Given the description of an element on the screen output the (x, y) to click on. 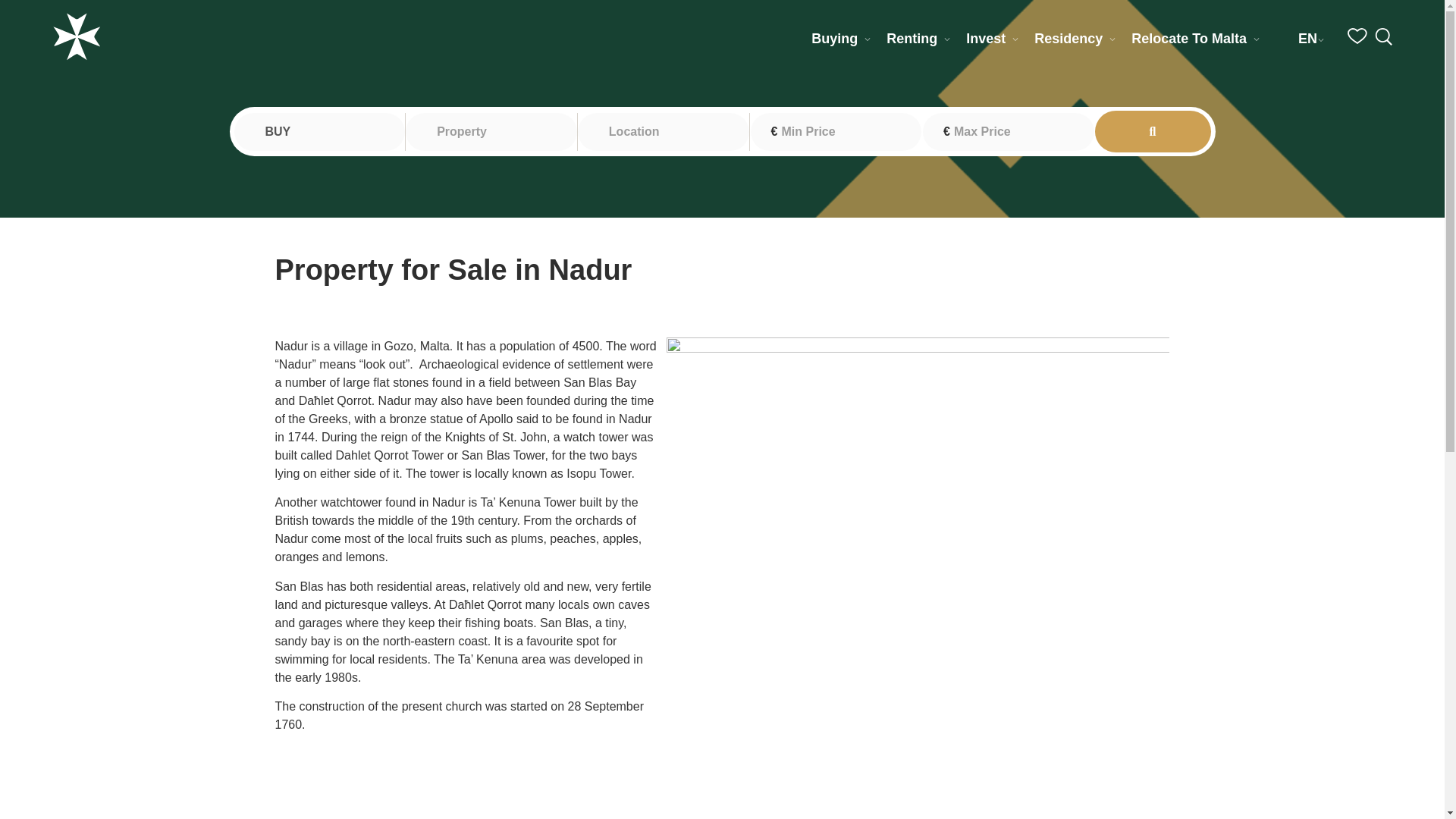
Renting (911, 38)
Relocate To Malta (1188, 38)
BUY (318, 130)
Buying (833, 38)
Residency (1067, 38)
nadur, malta (722, 789)
Invest (986, 38)
